Given the description of an element on the screen output the (x, y) to click on. 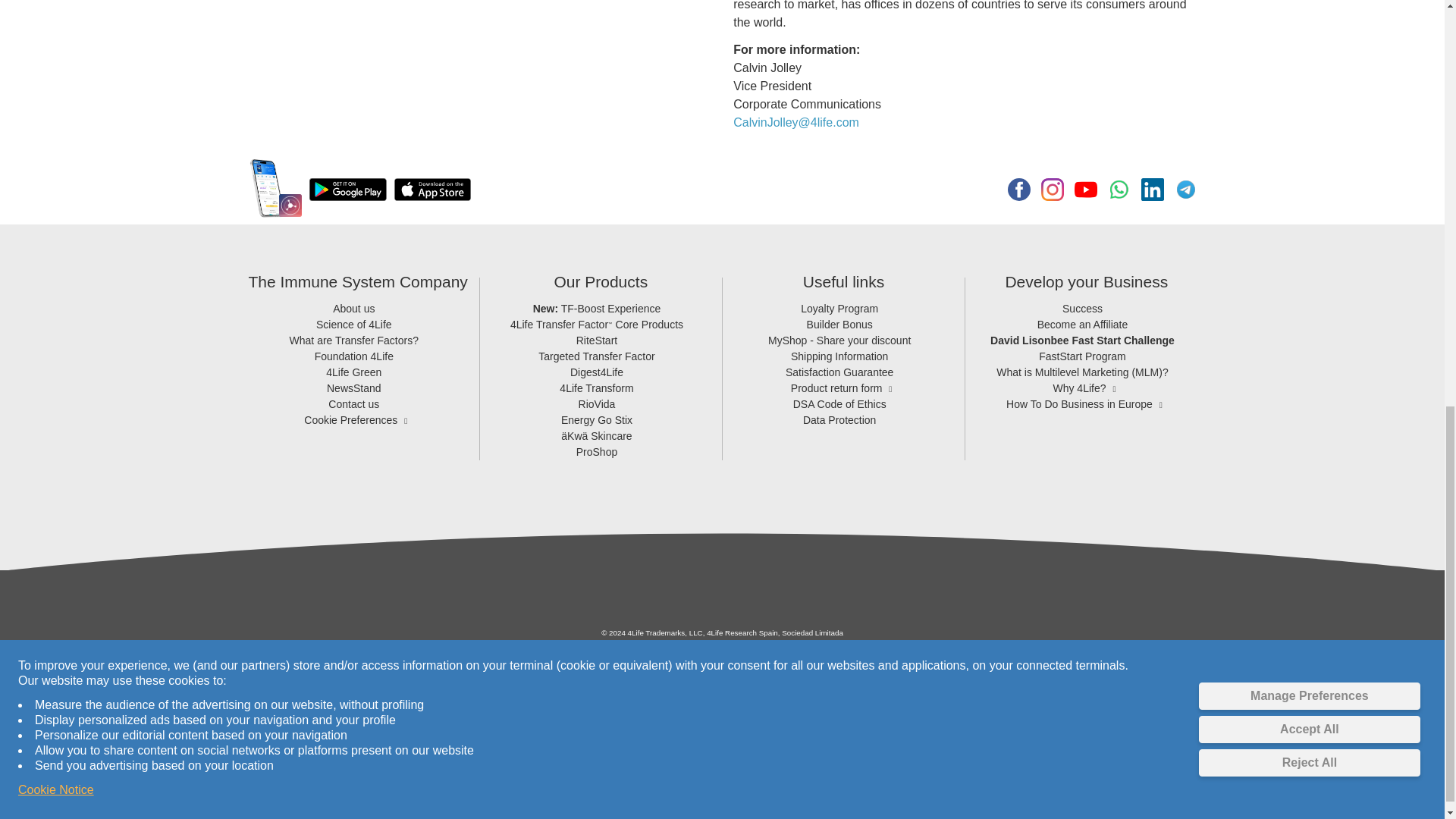
The Immune System Company (357, 282)
